Given the description of an element on the screen output the (x, y) to click on. 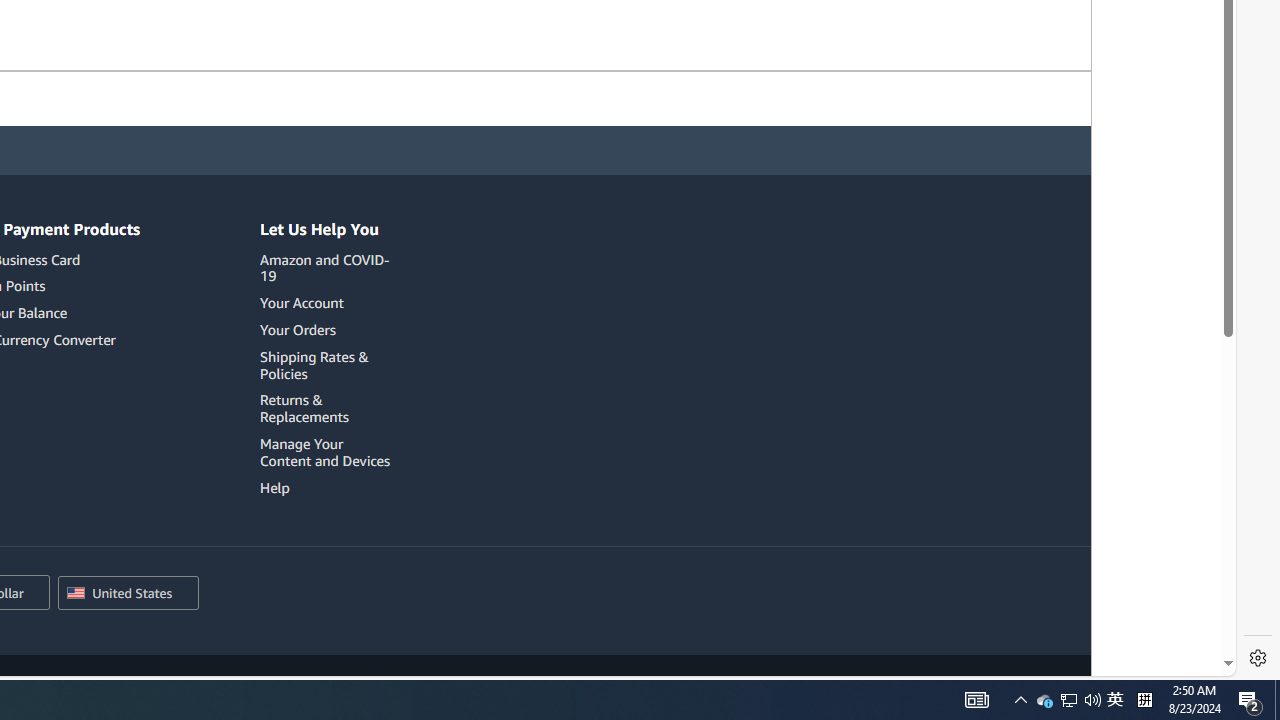
Returns & Replacements (304, 408)
Amazon and COVID-19 (328, 268)
Returns & Replacements (328, 408)
Your Account (328, 303)
Your Orders (297, 329)
Amazon and COVID-19 (324, 267)
Shipping Rates & Policies (313, 365)
Shipping Rates & Policies (328, 365)
Manage Your Content and Devices (324, 452)
Manage Your Content and Devices (328, 452)
Your Account (301, 303)
Your Orders (328, 330)
Choose a country/region for shopping. (127, 593)
